Given the description of an element on the screen output the (x, y) to click on. 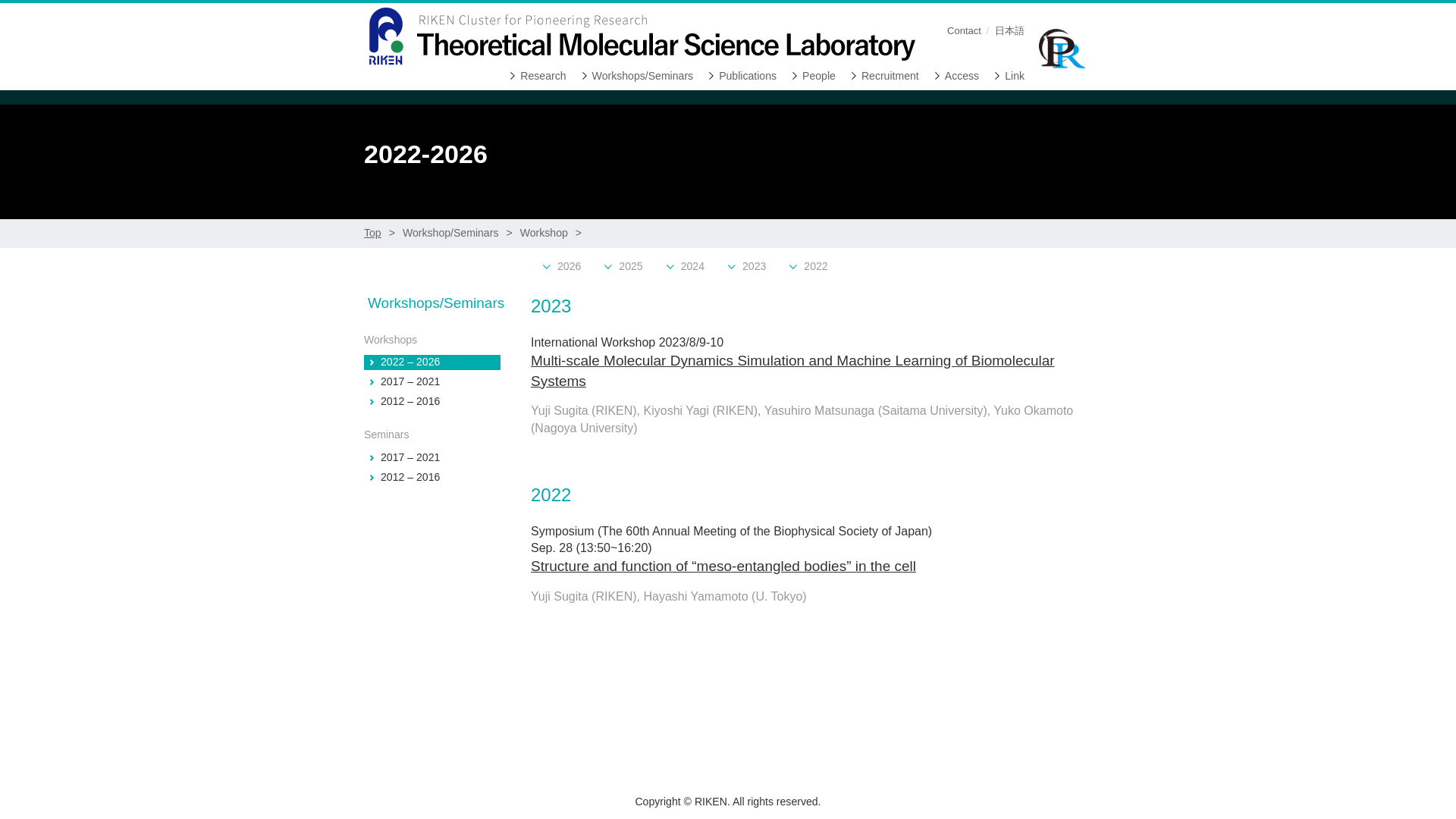
Access (956, 75)
Publications (742, 75)
Link (1009, 75)
Research (538, 75)
Contact (964, 30)
Japanese (1009, 30)
2022 (808, 266)
Recruitment (884, 75)
Workshops (432, 340)
2024 (684, 266)
